Given the description of an element on the screen output the (x, y) to click on. 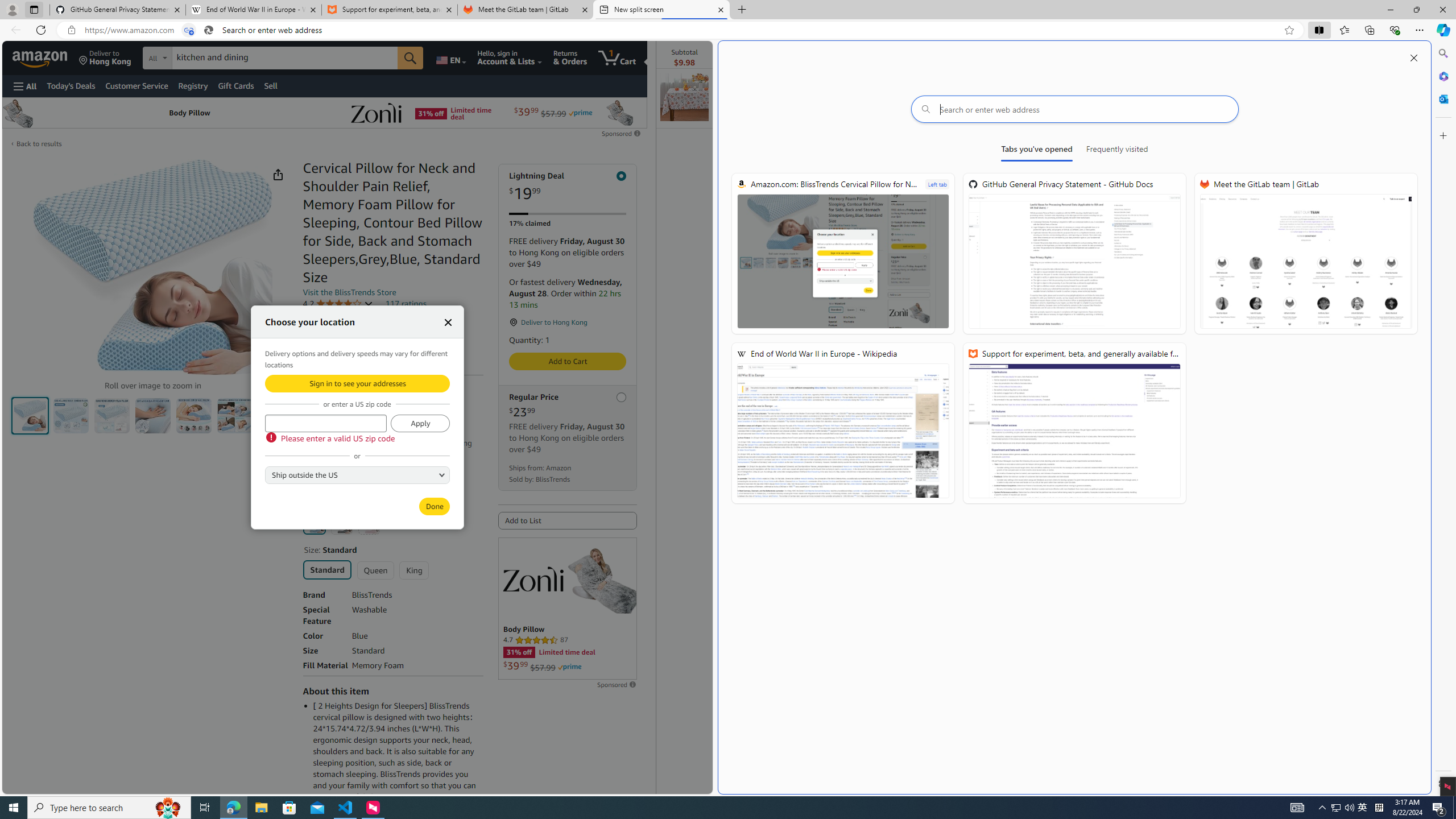
Go (410, 57)
Today's Deals (71, 85)
Terms (373, 481)
Open Menu (25, 86)
AutomationID: GLUXCountryList (356, 474)
Sponsored ad (567, 608)
GitHub General Privacy Statement - GitHub Docs (1074, 253)
Logo (533, 578)
Lightning Deal $19.99 (567, 186)
Apply 20% coupon Shop items | Terms (353, 465)
Gift Cards (235, 85)
